Given the description of an element on the screen output the (x, y) to click on. 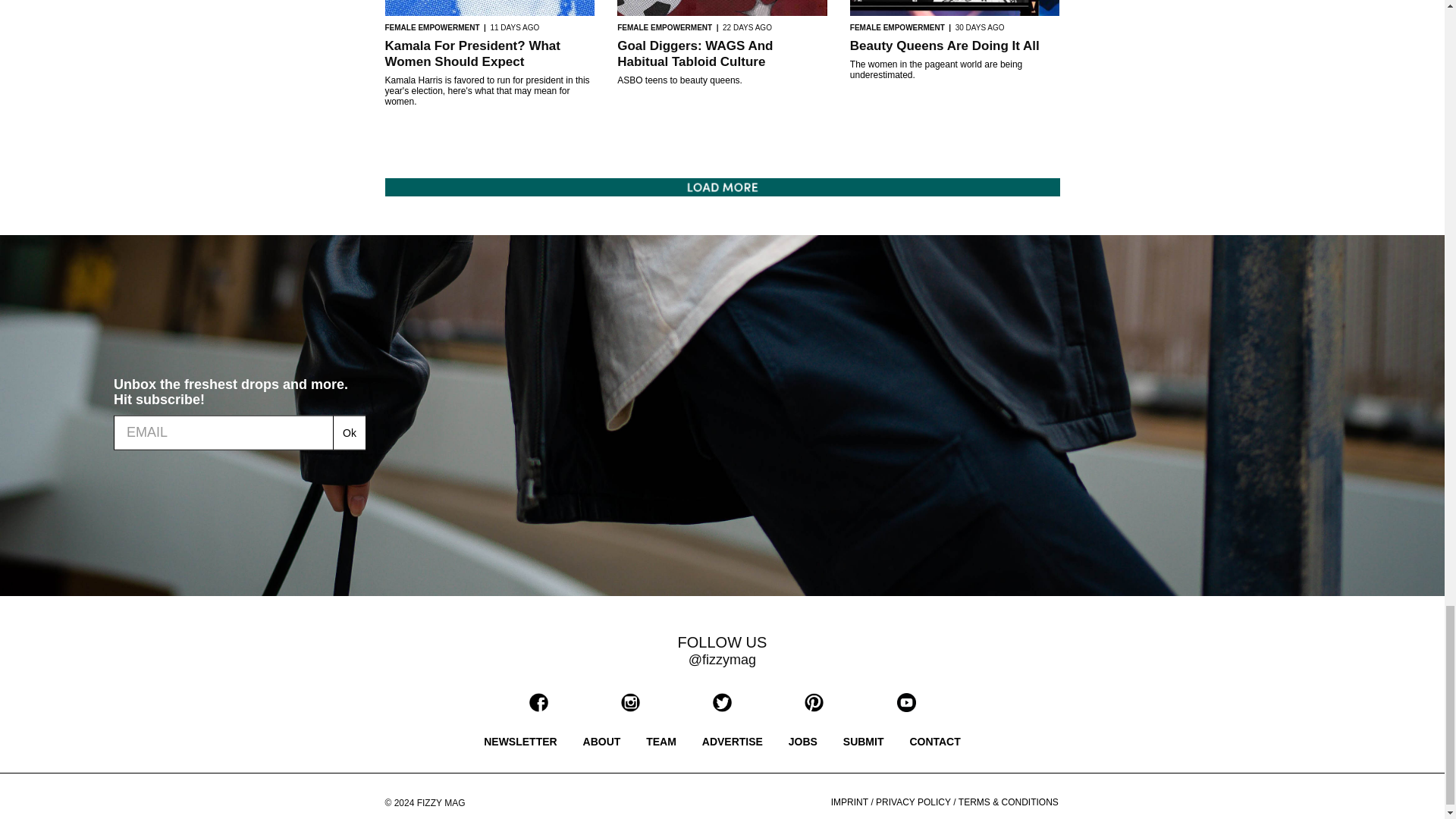
Beauty Queens Are Doing It All (944, 45)
Goal Diggers: WAGS And Habitual Tabloid Culture (695, 53)
Kamala For President? What Women Should Expect (472, 53)
24.07.24 04:30 (513, 27)
13.07.24 09:38 (746, 27)
Load More Articles (722, 186)
05.07.24 14:14 (979, 27)
